Given the description of an element on the screen output the (x, y) to click on. 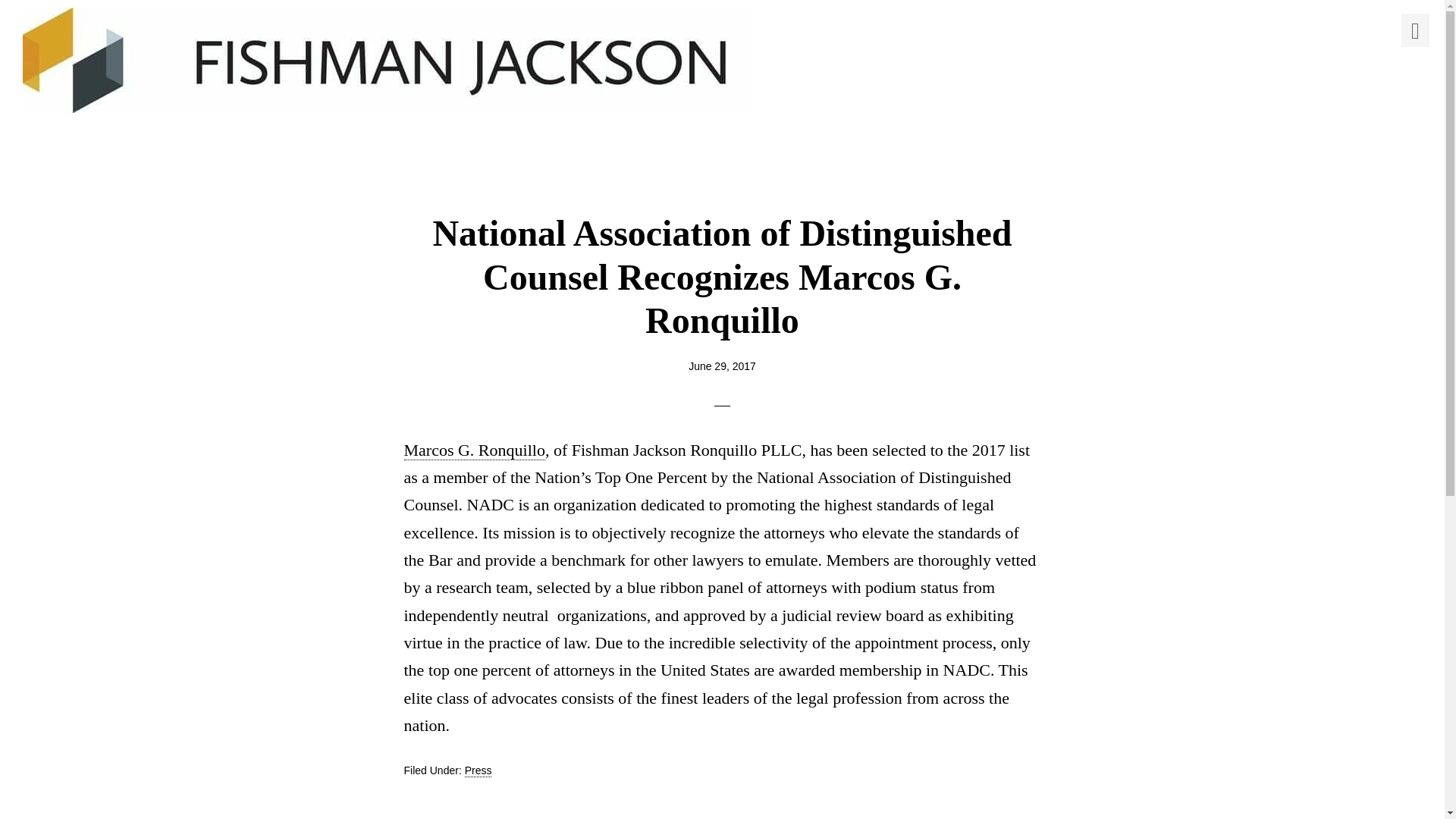
Marcos G. Ronquillo (473, 450)
Press (478, 770)
